Given the description of an element on the screen output the (x, y) to click on. 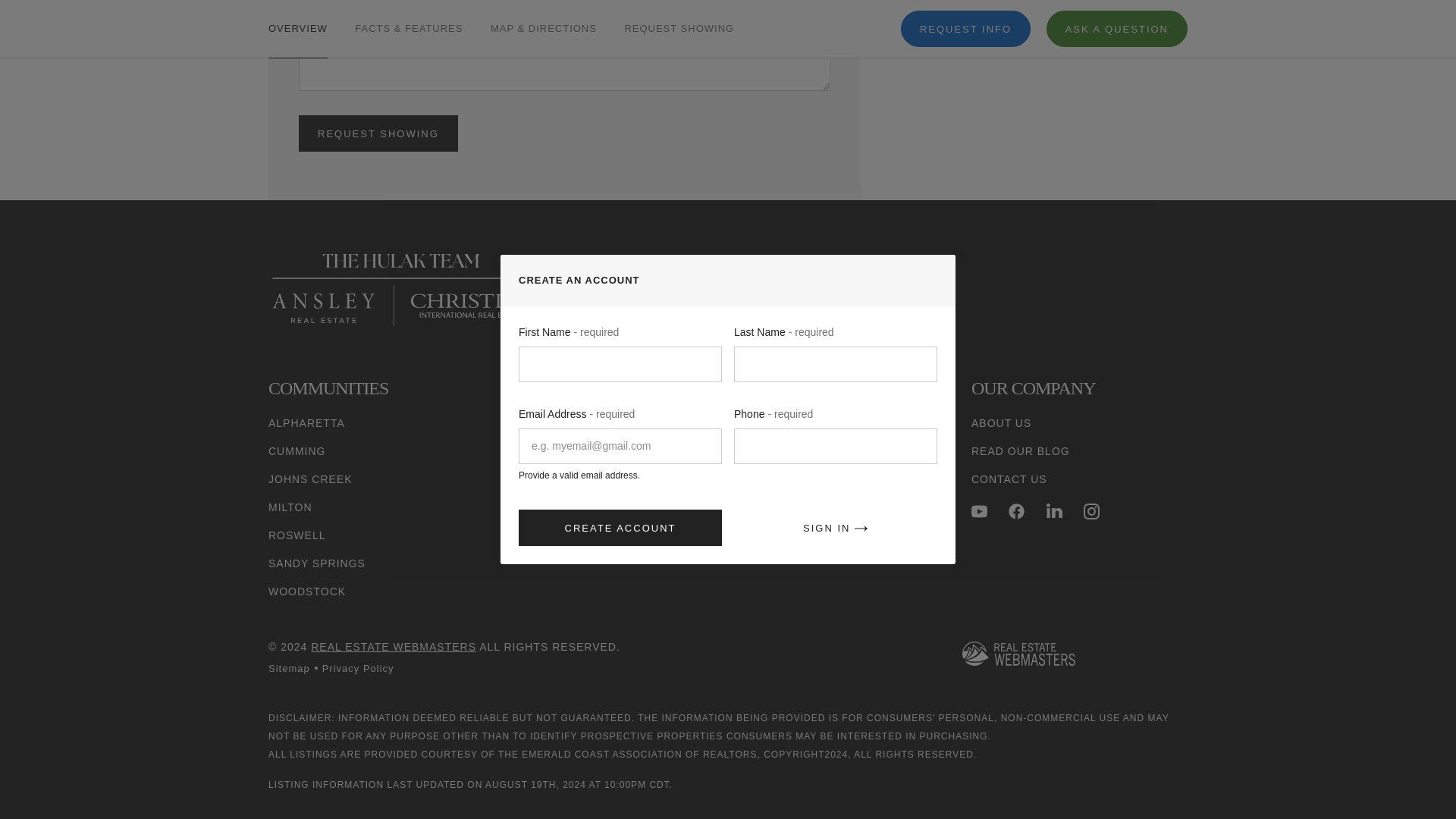
LINKEDIN (1054, 511)
FACEBOOK (1017, 511)
YOUTUBE (979, 511)
